Given the description of an element on the screen output the (x, y) to click on. 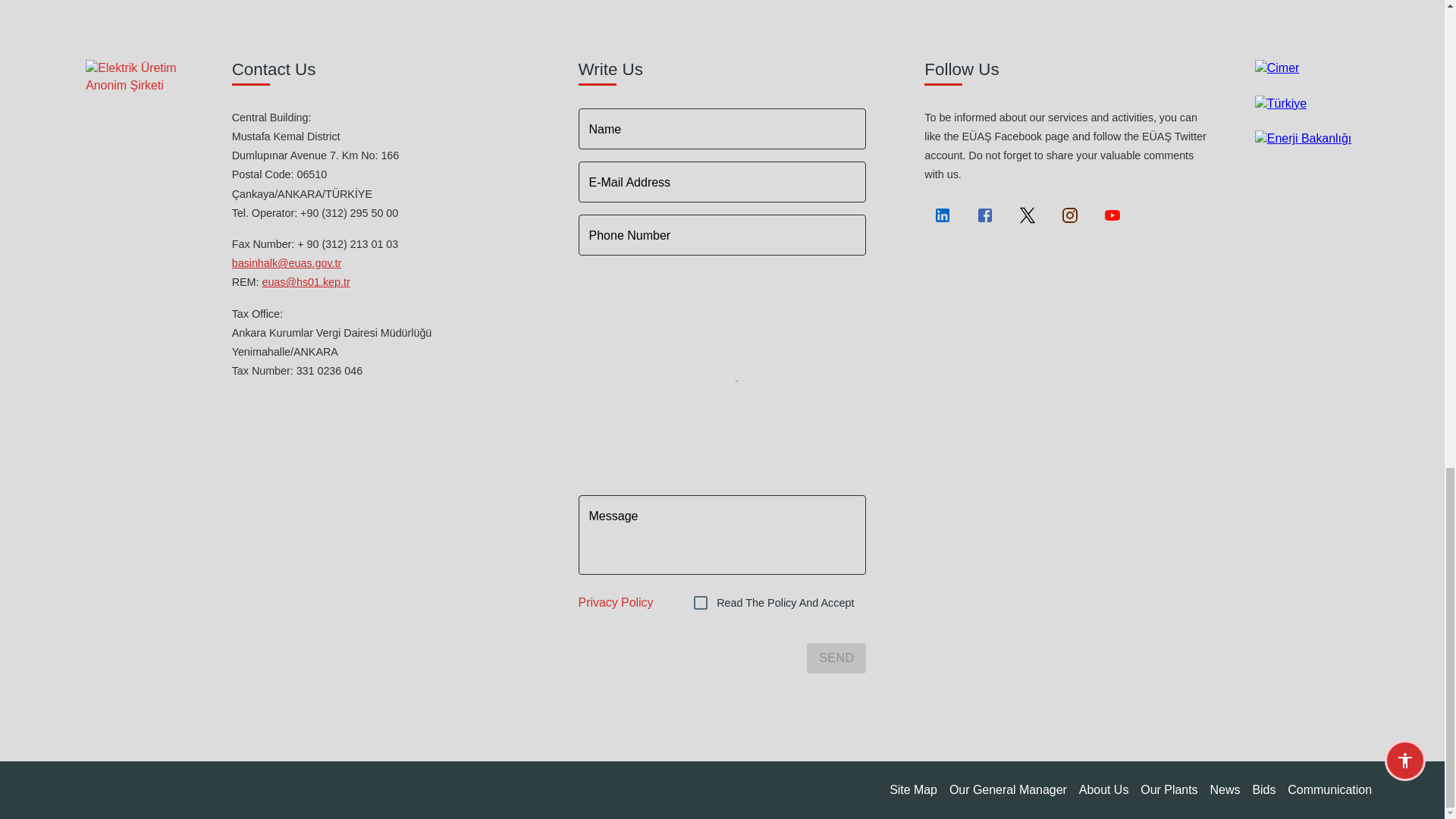
SEND (836, 657)
Facebook (984, 215)
Privacy Policy (615, 603)
Our Plants (1168, 790)
News (1224, 790)
About Us (1103, 790)
Our General Manager (1008, 790)
Twitter (1027, 215)
Bids (1263, 790)
Instagram (1069, 215)
Linked In (942, 215)
Communication (1329, 790)
Site Map (913, 790)
Youtube (1112, 215)
